Given the description of an element on the screen output the (x, y) to click on. 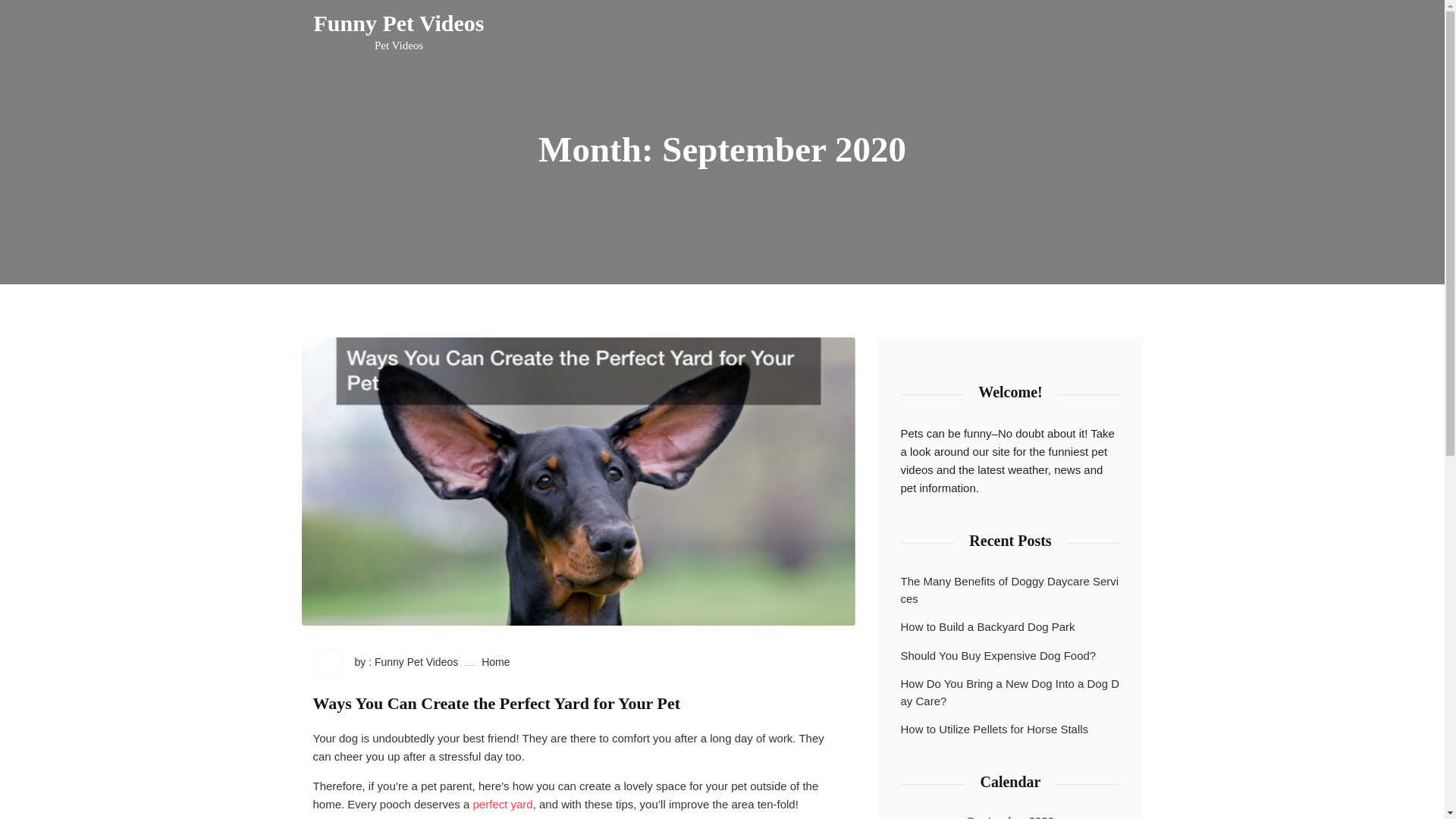
The Many Benefits of Doggy Daycare Services (1011, 590)
How Do You Bring a New Dog Into a Dog Day Care? (399, 31)
Ways You Can Create the Perfect Yard for Your Pet (1011, 692)
perfect yard (496, 703)
How to Utilize Pellets for Horse Stalls (501, 804)
Should You Buy Expensive Dog Food? (995, 729)
Home (998, 656)
by : Funny Pet Videos (495, 662)
How to Build a Backyard Dog Park (385, 663)
